Given the description of an element on the screen output the (x, y) to click on. 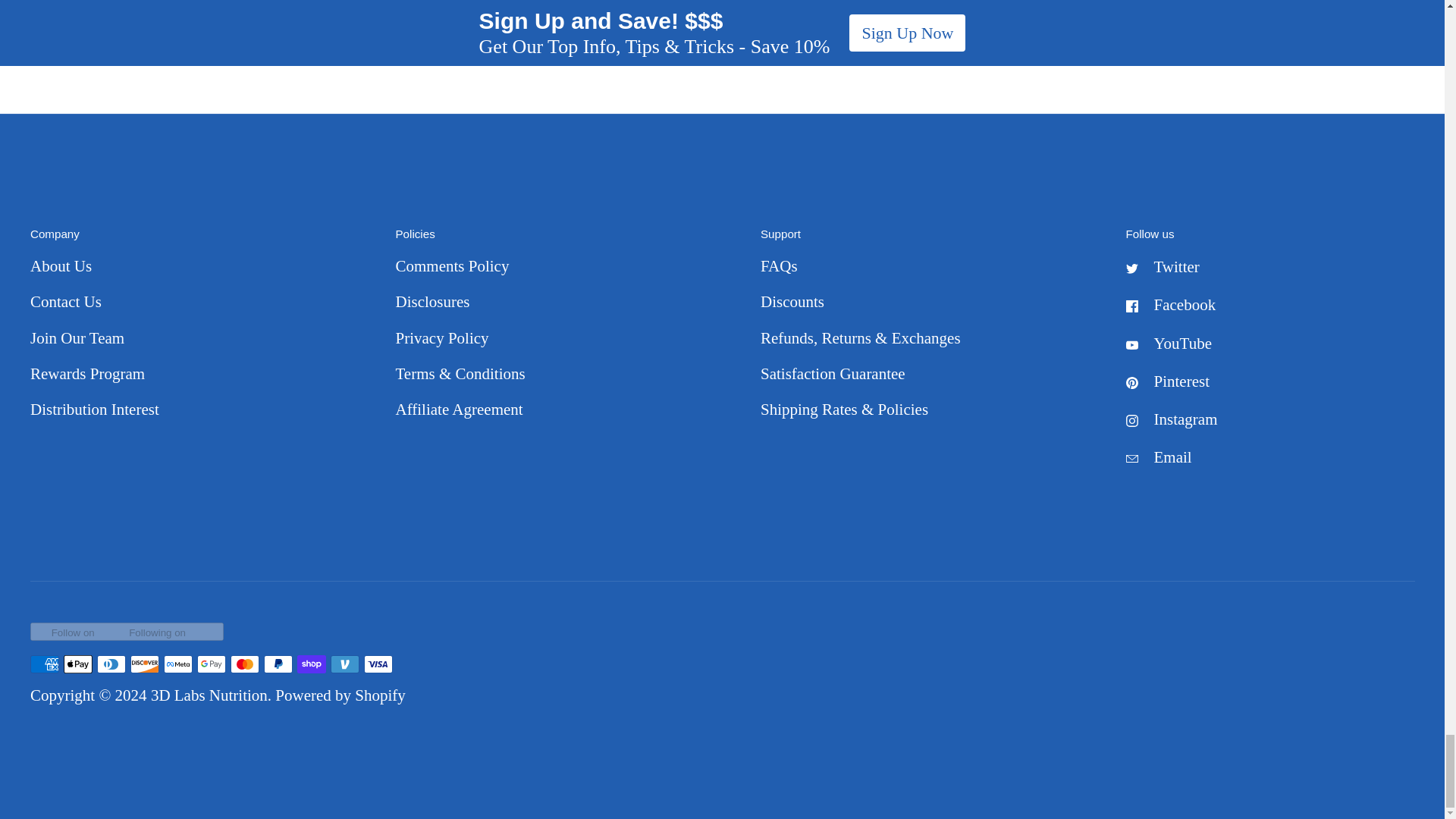
American Express (44, 664)
